Given the description of an element on the screen output the (x, y) to click on. 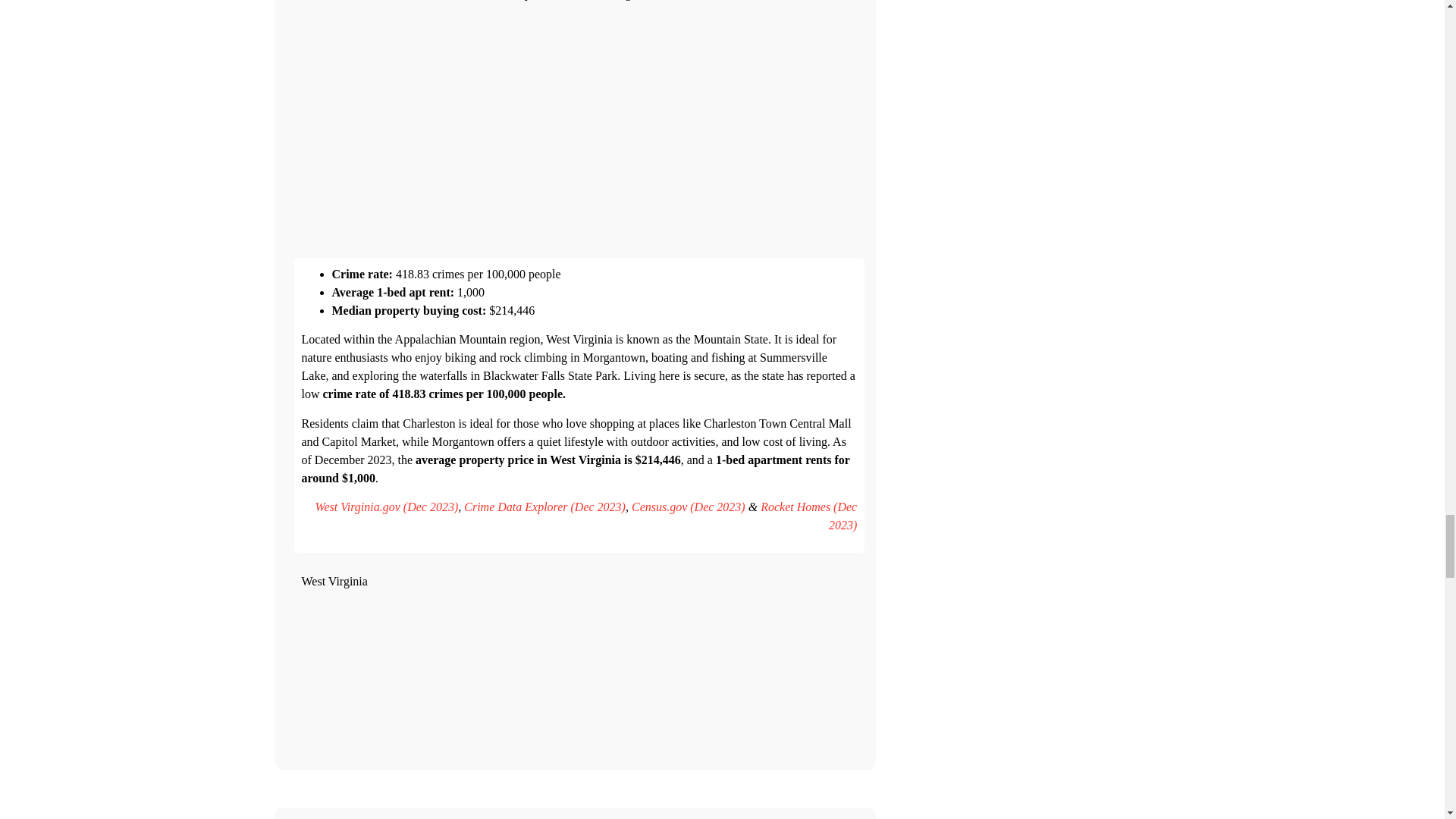
West Virginia (579, 673)
